Given the description of an element on the screen output the (x, y) to click on. 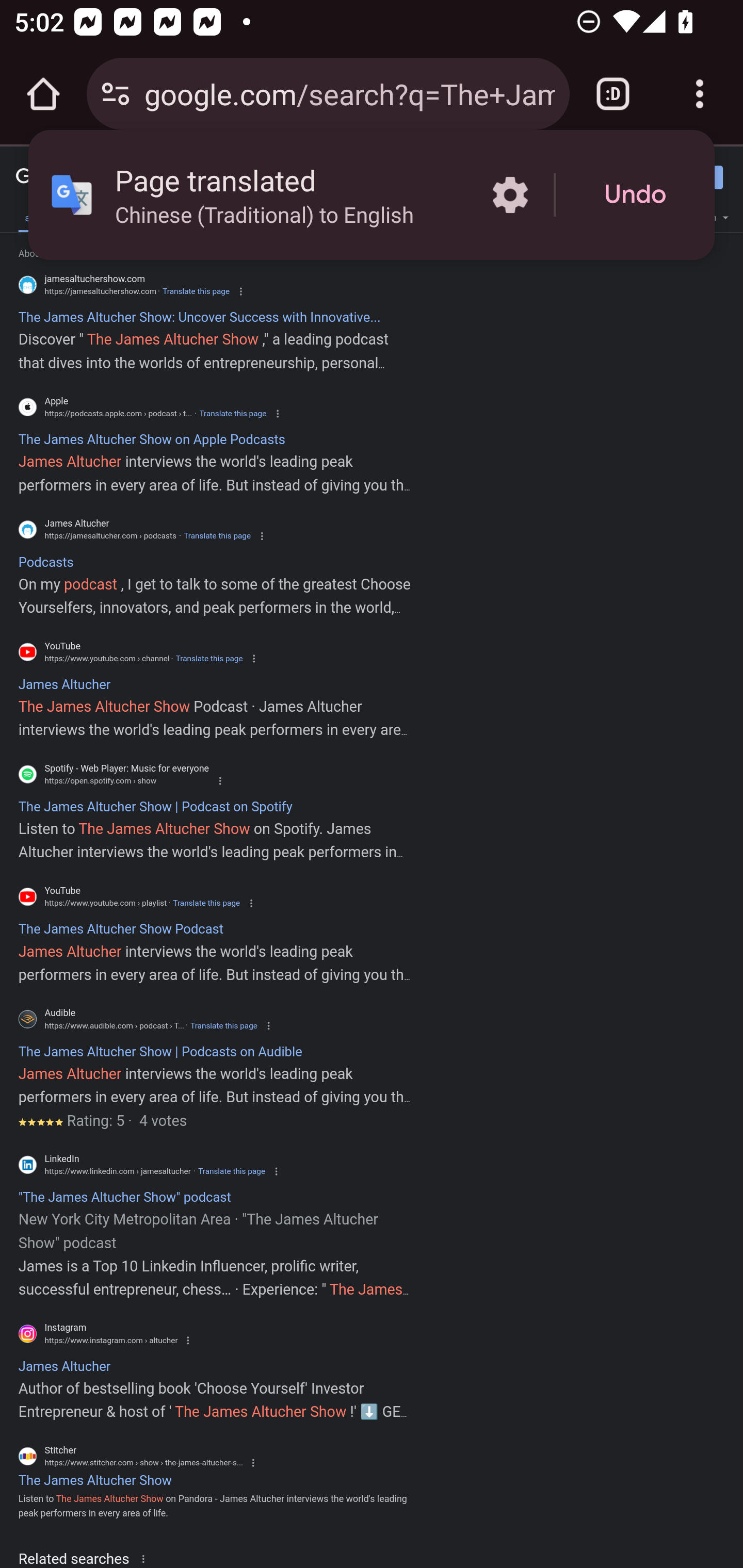
Open the home page (43, 93)
Connection is secure (115, 93)
Switch or close tabs (612, 93)
Customize and control Google Chrome (699, 93)
Undo (634, 195)
More options in the Page translated (509, 195)
Translate this page (195, 291)
Translate this page (232, 413)
Translate this page (217, 535)
Translate this page (208, 658)
Translate this page (206, 902)
Translate this page (223, 1025)
Translate this page (231, 1171)
About this result (146, 1557)
